Given the description of an element on the screen output the (x, y) to click on. 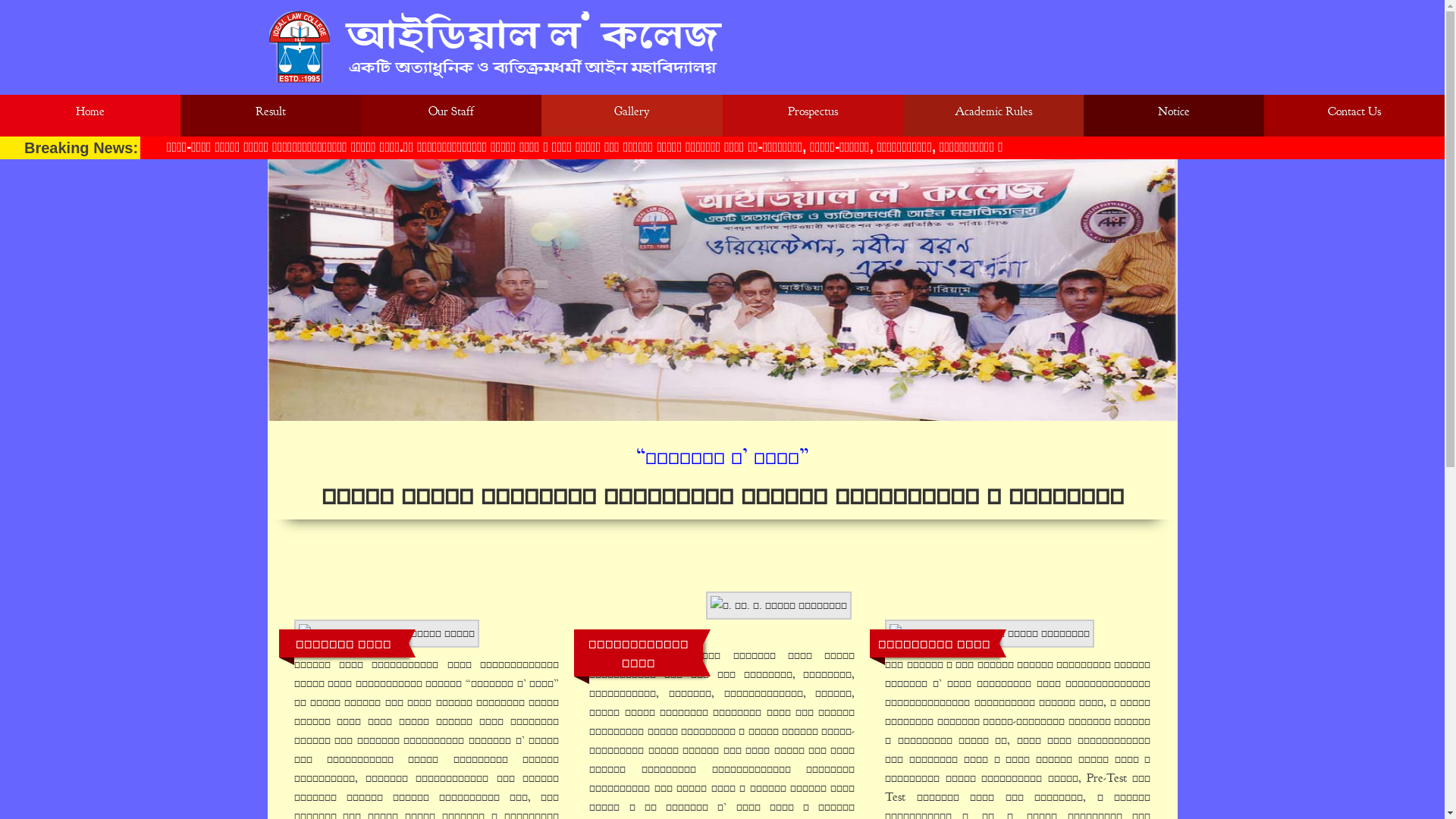
Gallery Element type: text (631, 115)
Prospectus Element type: text (811, 115)
Notice Element type: text (1173, 115)
Home Element type: text (90, 115)
Academic Rules Element type: text (993, 115)
Contact Us Element type: text (1354, 115)
Result Element type: text (270, 115)
Our Staff Element type: text (450, 115)
